Given the description of an element on the screen output the (x, y) to click on. 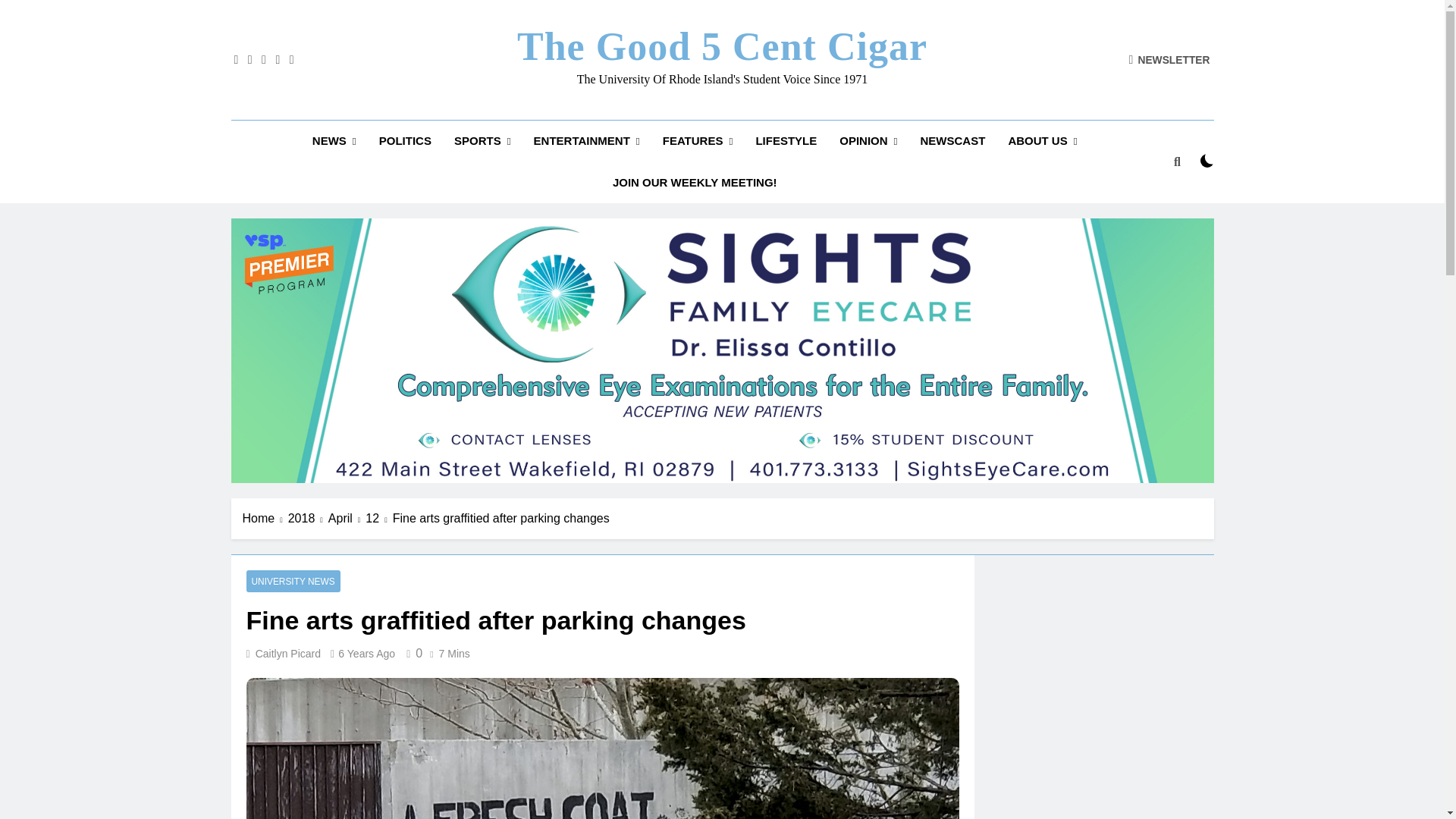
SPORTS (482, 141)
NEWS (334, 141)
ENTERTAINMENT (586, 141)
NEWSLETTER (1169, 59)
POLITICS (405, 140)
The Good 5 Cent Cigar (721, 46)
on (1206, 160)
